Given the description of an element on the screen output the (x, y) to click on. 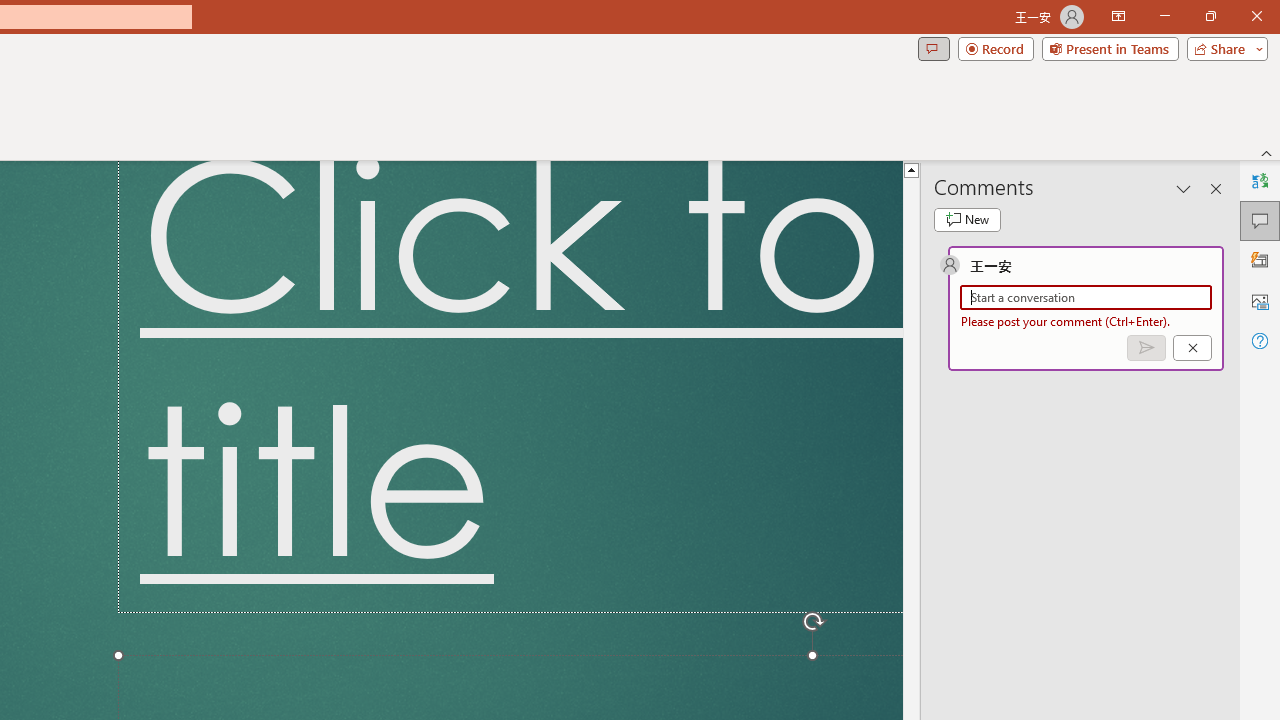
Task Pane Options (1183, 188)
New comment (967, 219)
Designer (1260, 260)
Close pane (1215, 188)
